Given the description of an element on the screen output the (x, y) to click on. 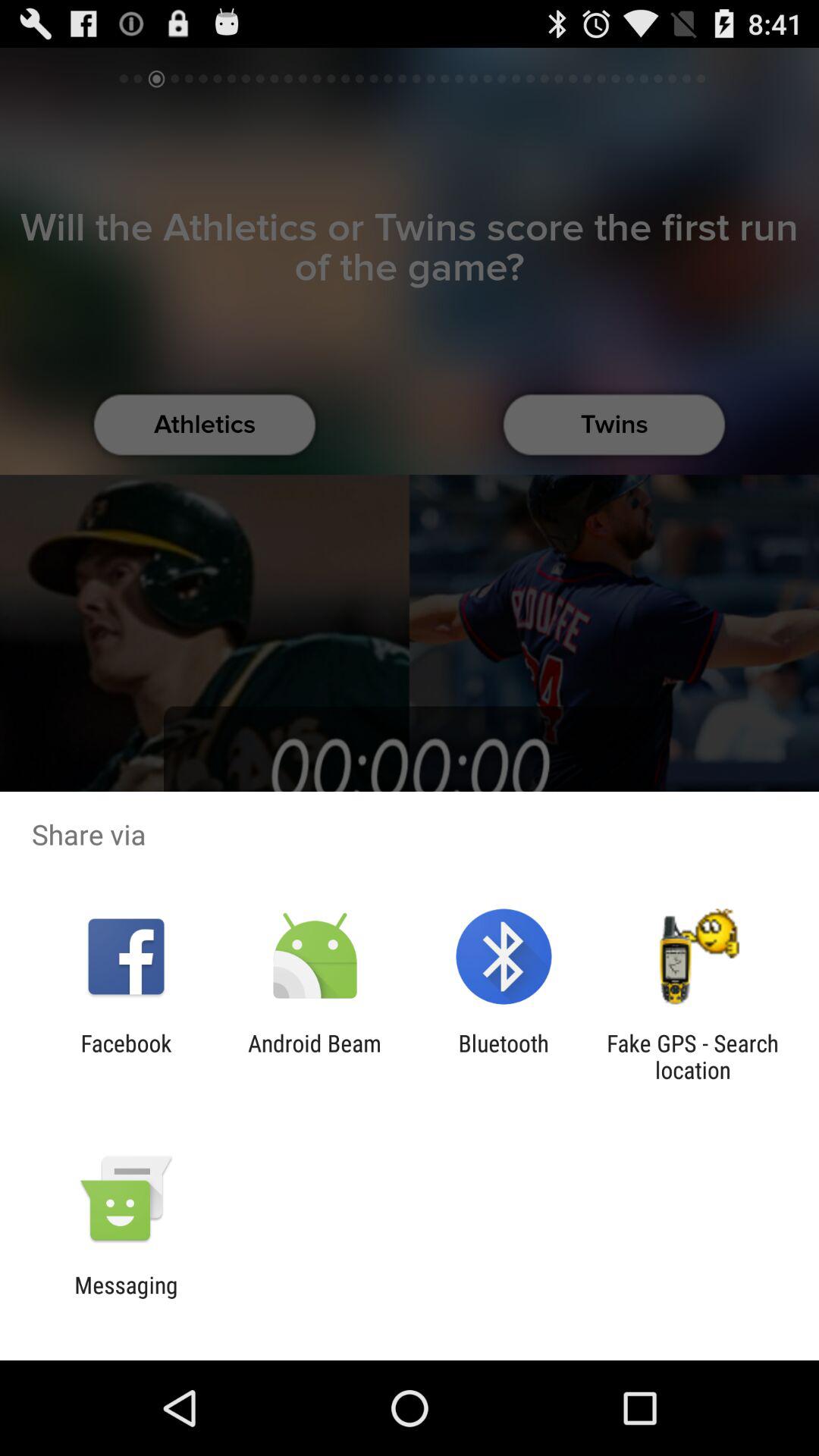
select the fake gps search icon (692, 1056)
